Given the description of an element on the screen output the (x, y) to click on. 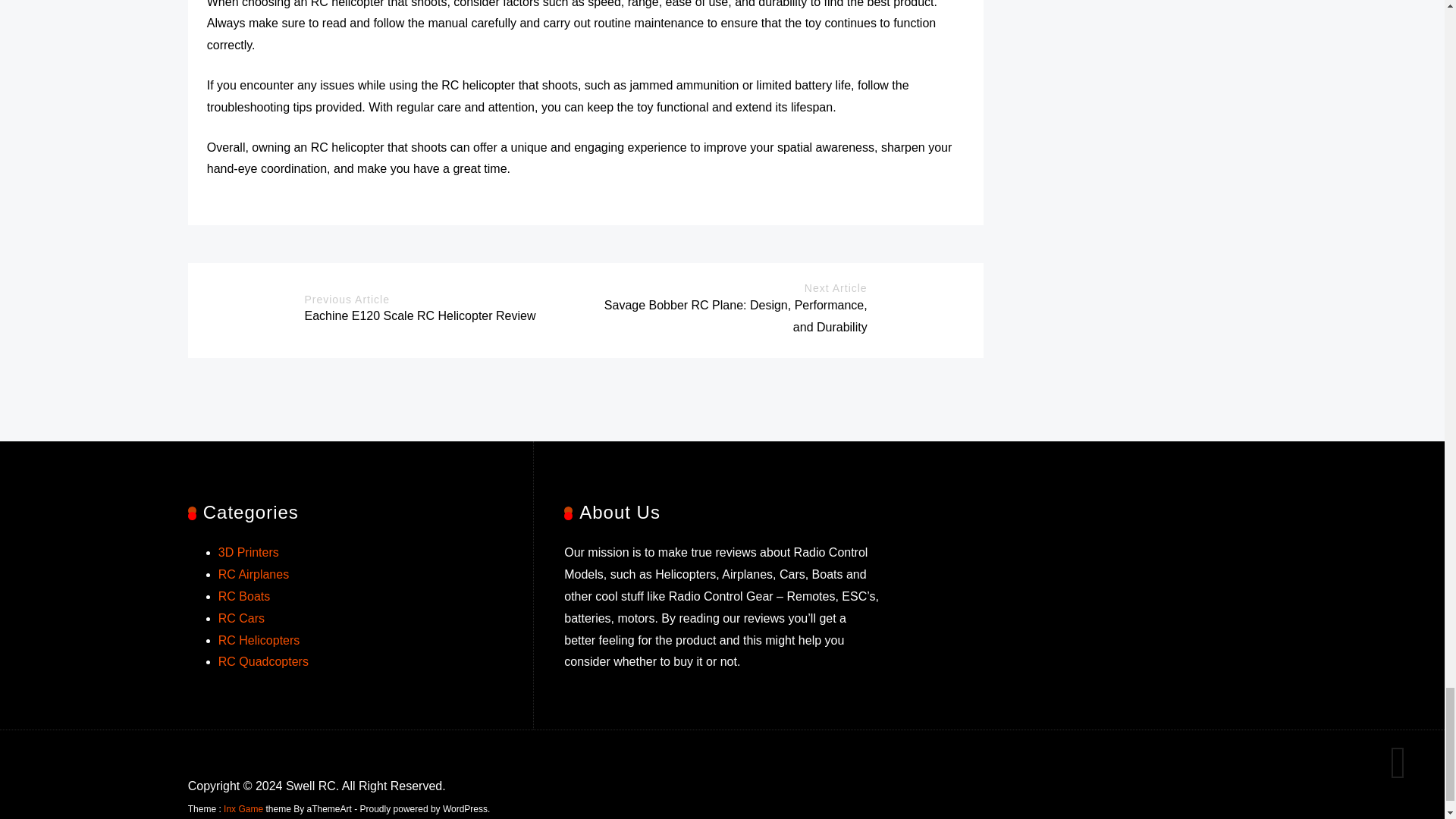
Savage Bobber RC Plane: Design, Performance, and Durability (735, 315)
Eachine E120 Scale RC Helicopter Review (419, 315)
